Given the description of an element on the screen output the (x, y) to click on. 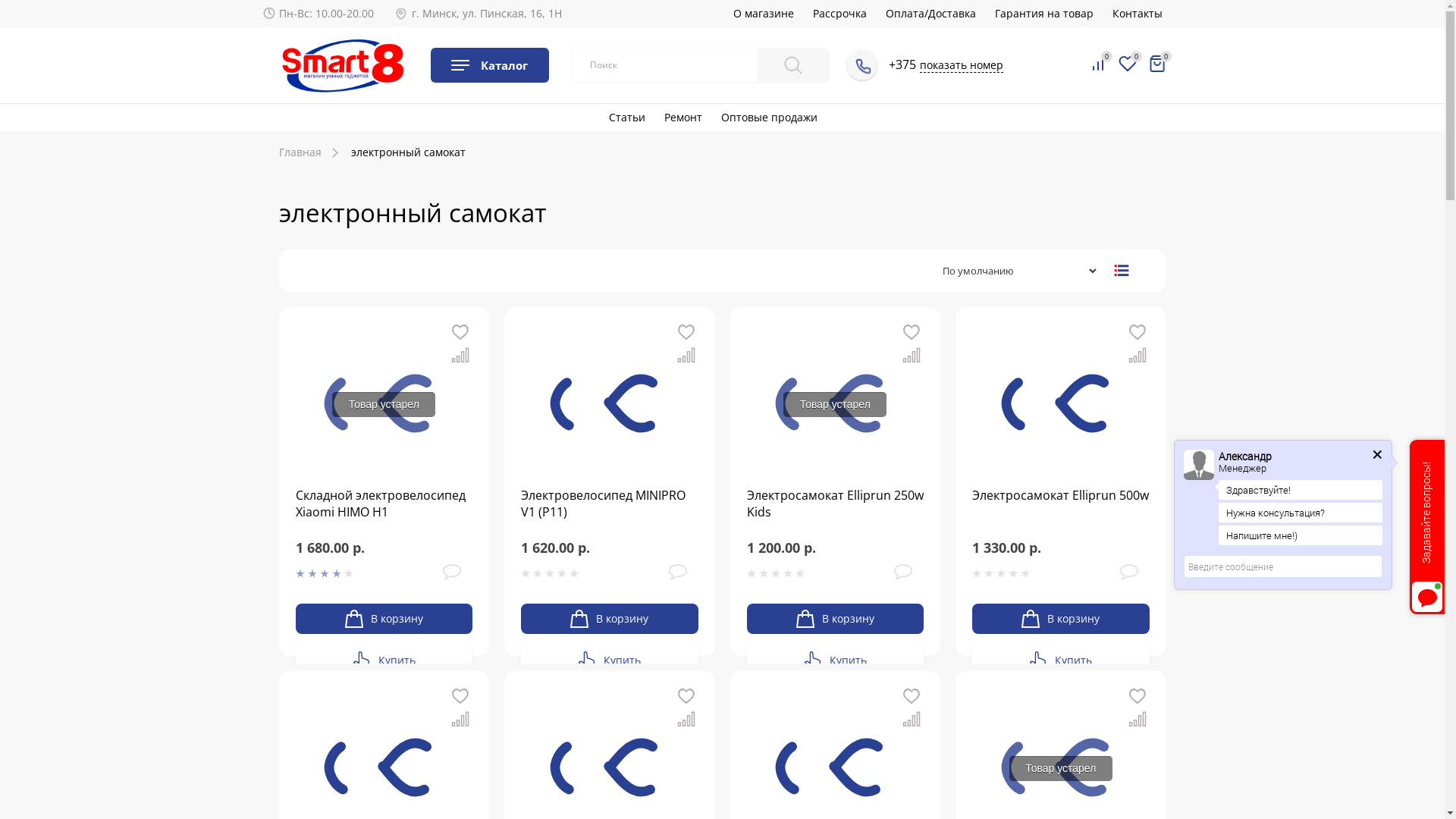
0 Element type: text (1126, 64)
0 Element type: text (1097, 64)
0 Element type: text (1157, 63)
